Given the description of an element on the screen output the (x, y) to click on. 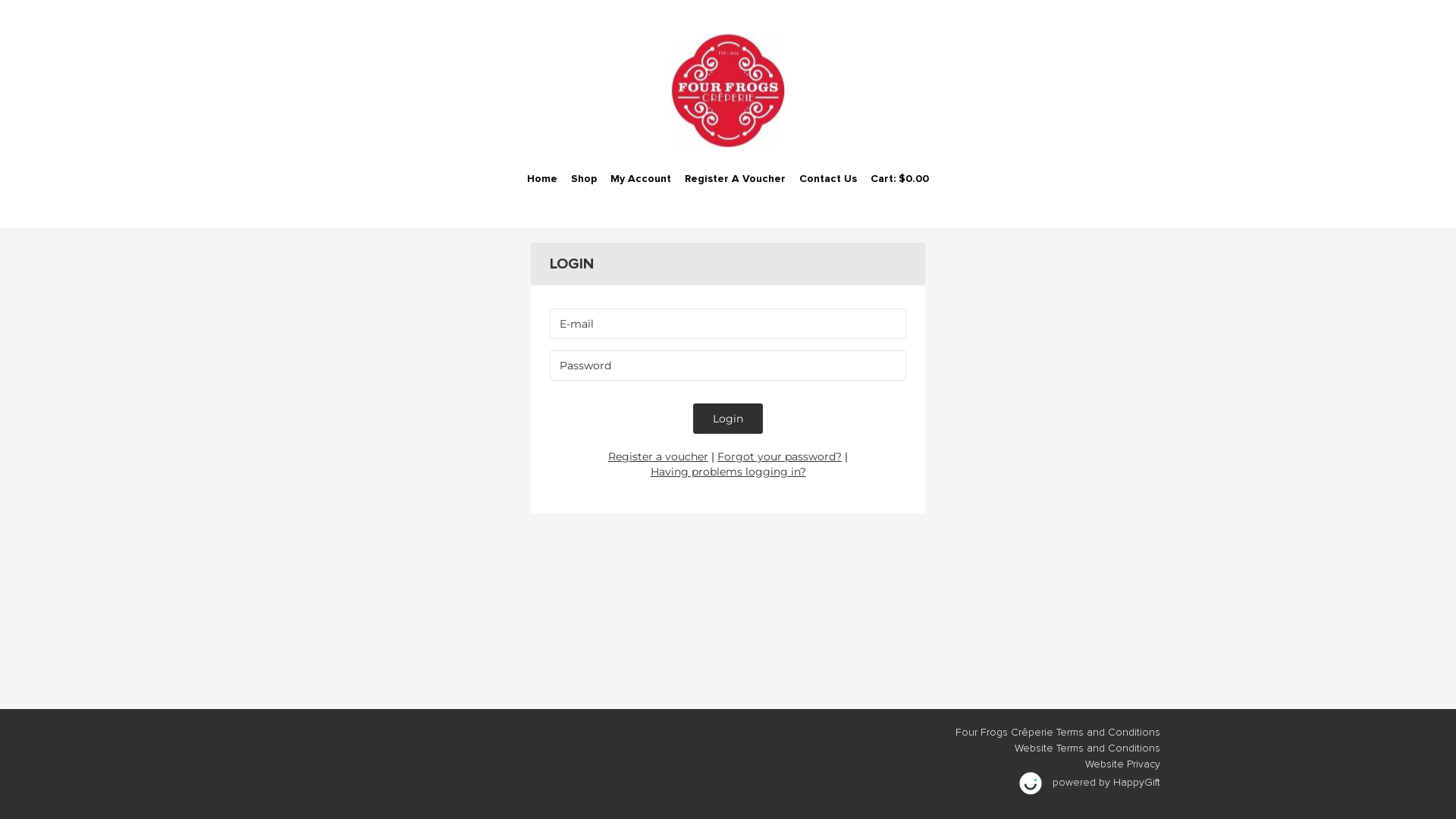
Cart: $0.00 Element type: text (899, 178)
Home Element type: text (542, 178)
Website Terms and Conditions Element type: text (1087, 748)
Forgot your password? Element type: text (779, 456)
Having problems logging in? Element type: text (728, 471)
Register A Voucher Element type: text (734, 178)
HappyGift Element type: text (1136, 782)
Login Element type: text (727, 418)
My Account Element type: text (640, 178)
Contact Us Element type: text (827, 178)
Shop Element type: text (583, 178)
Register a voucher Element type: text (658, 456)
Website Privacy Element type: text (1122, 764)
